Given the description of an element on the screen output the (x, y) to click on. 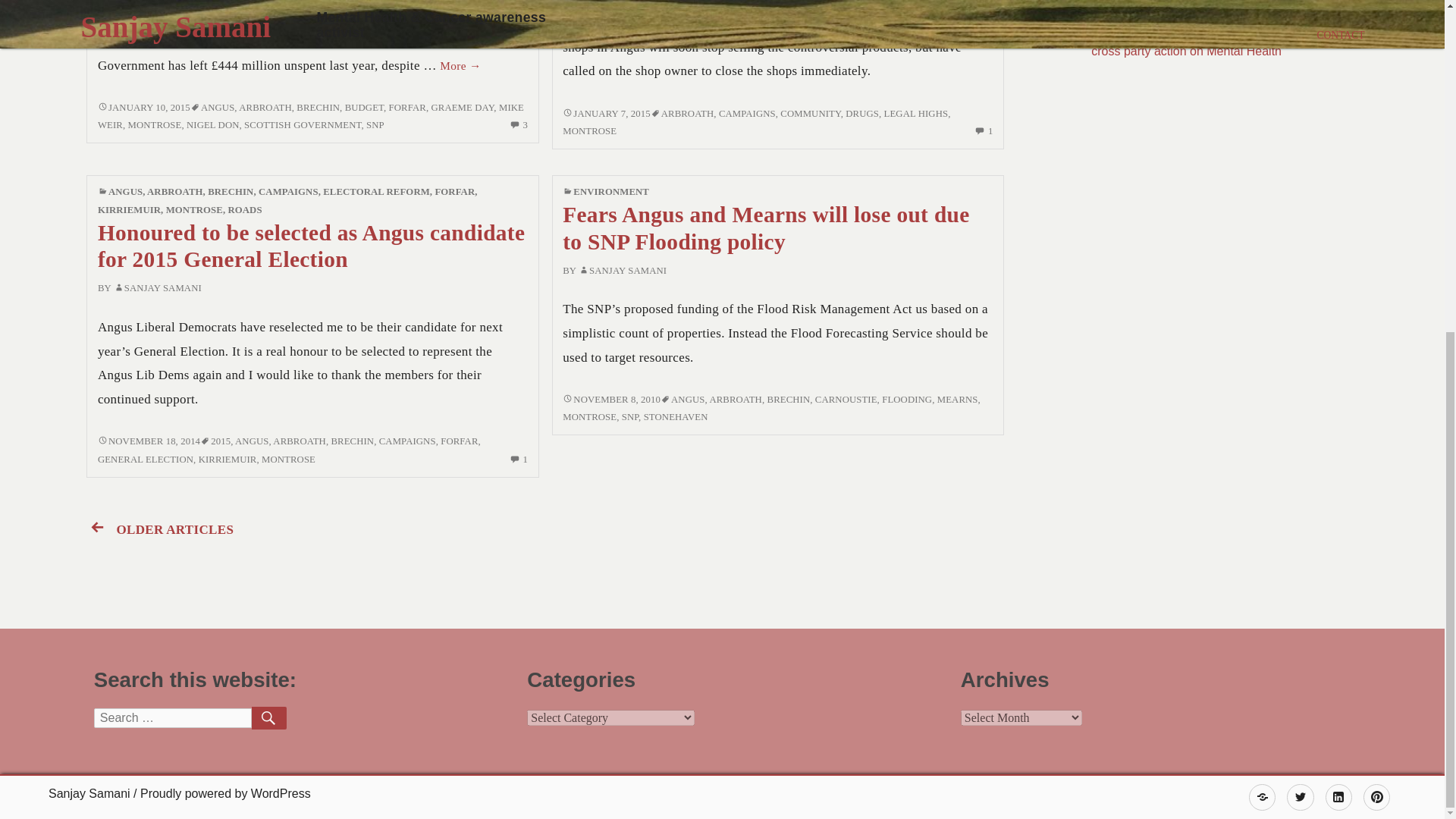
Search for: (172, 718)
